Given the description of an element on the screen output the (x, y) to click on. 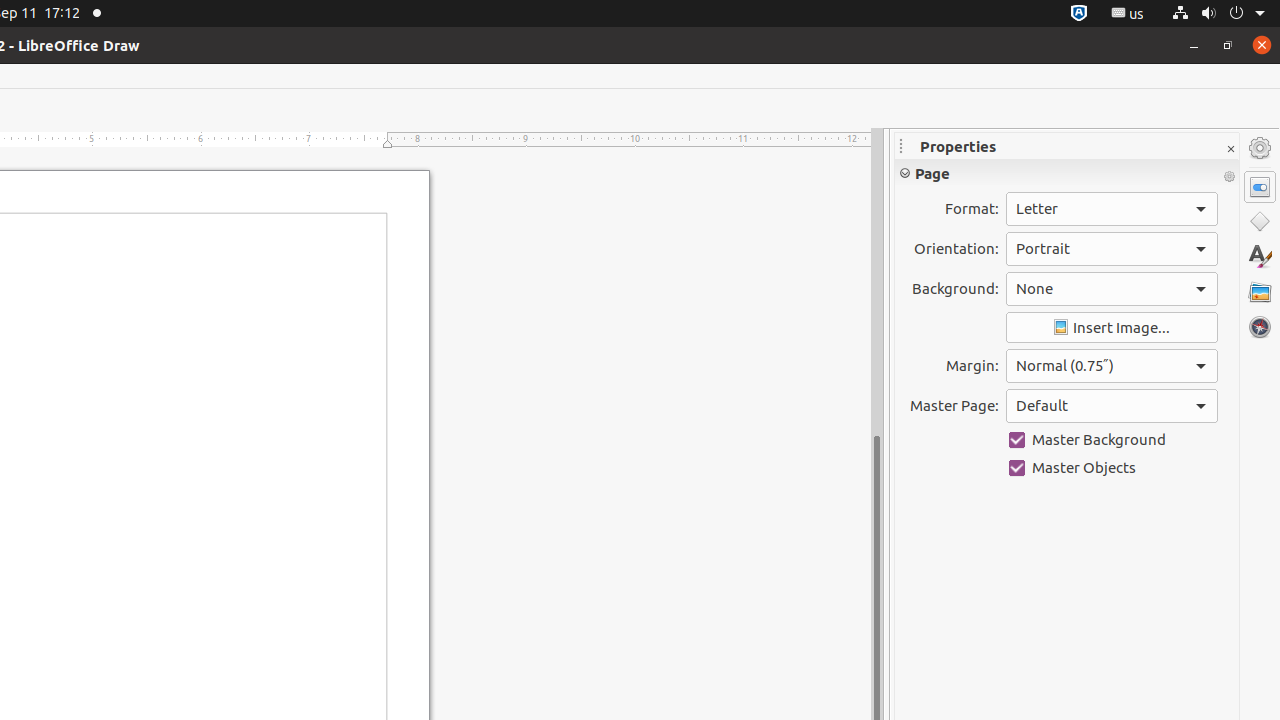
Master Objects Element type: check-box (1112, 468)
Navigator Element type: radio-button (1260, 327)
Master Background Element type: check-box (1112, 440)
System Element type: menu (1218, 13)
Properties Element type: radio-button (1260, 187)
